Given the description of an element on the screen output the (x, y) to click on. 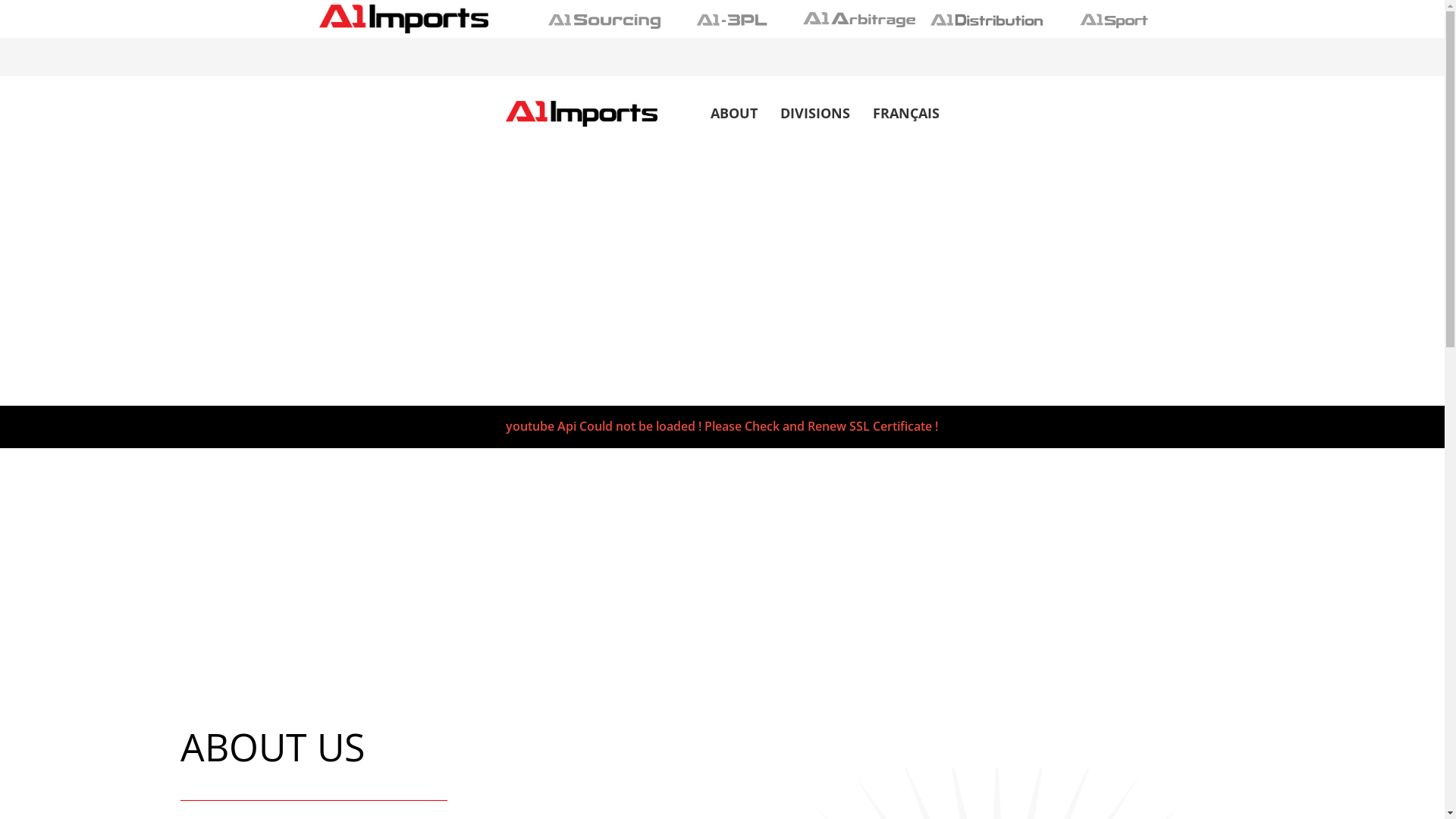
A1-Arbitrage-Logo | A1 Imports Element type: hover (858, 20)
DIVISIONS Element type: text (814, 113)
A1Imports-Logo-Red-Black-Top-Bar-Center | A1 Imports Element type: hover (580, 113)
A1-3PL-Logo-Red-Black-Top-Bar-Center | A1 Imports Element type: hover (730, 19)
A1-Sourcing-Logo-Red-Black-Top-Bar-Center | A1 Imports Element type: hover (603, 19)
A1Imports-Logo-Red-Black-Top-Bar-Center | A1 Imports Element type: hover (404, 18)
A1-Sport-Logo-Red-Black-Top-Bar-Center | A1 Imports Element type: hover (1113, 19)
A1-Distributiont-Logo-Red-Black-Top-Bar-Center | A1 Imports Element type: hover (985, 19)
ABOUT Element type: text (732, 113)
